Given the description of an element on the screen output the (x, y) to click on. 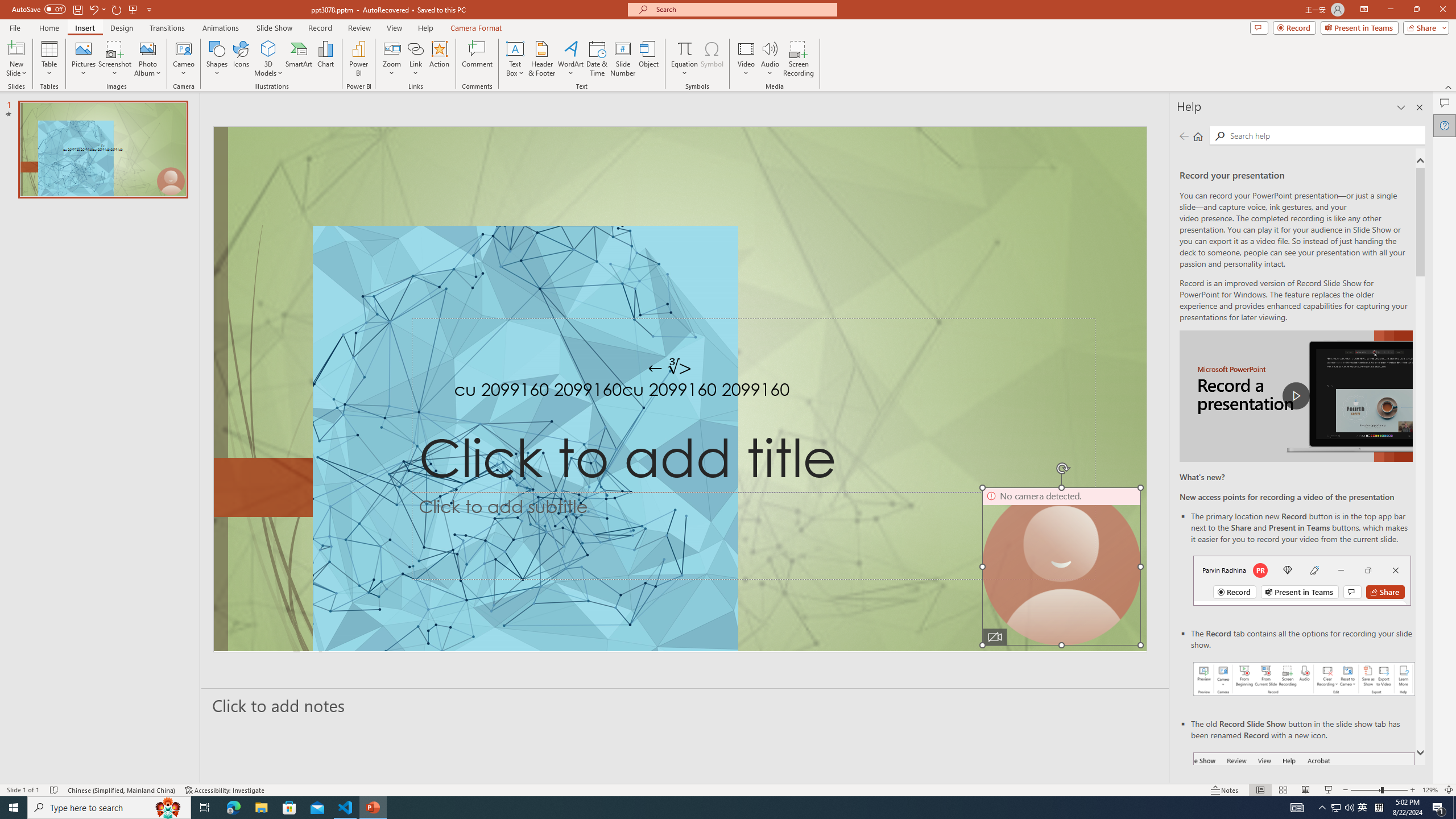
Object... (649, 58)
Equation (683, 48)
Comment (476, 58)
3D Models (268, 58)
Zoom 129% (1430, 790)
Screen Recording... (798, 58)
Table (49, 58)
